Given the description of an element on the screen output the (x, y) to click on. 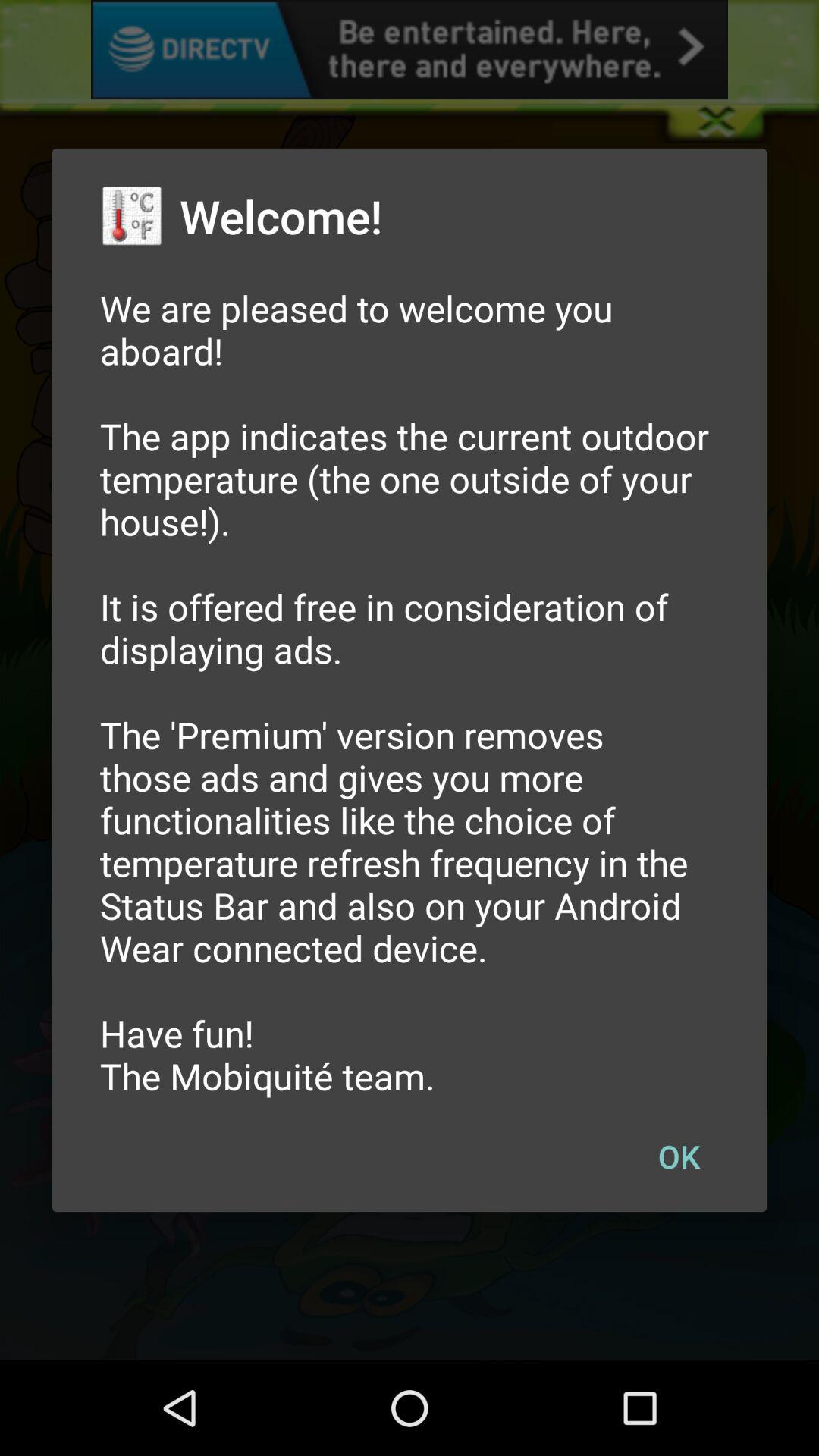
flip to ok (678, 1156)
